Given the description of an element on the screen output the (x, y) to click on. 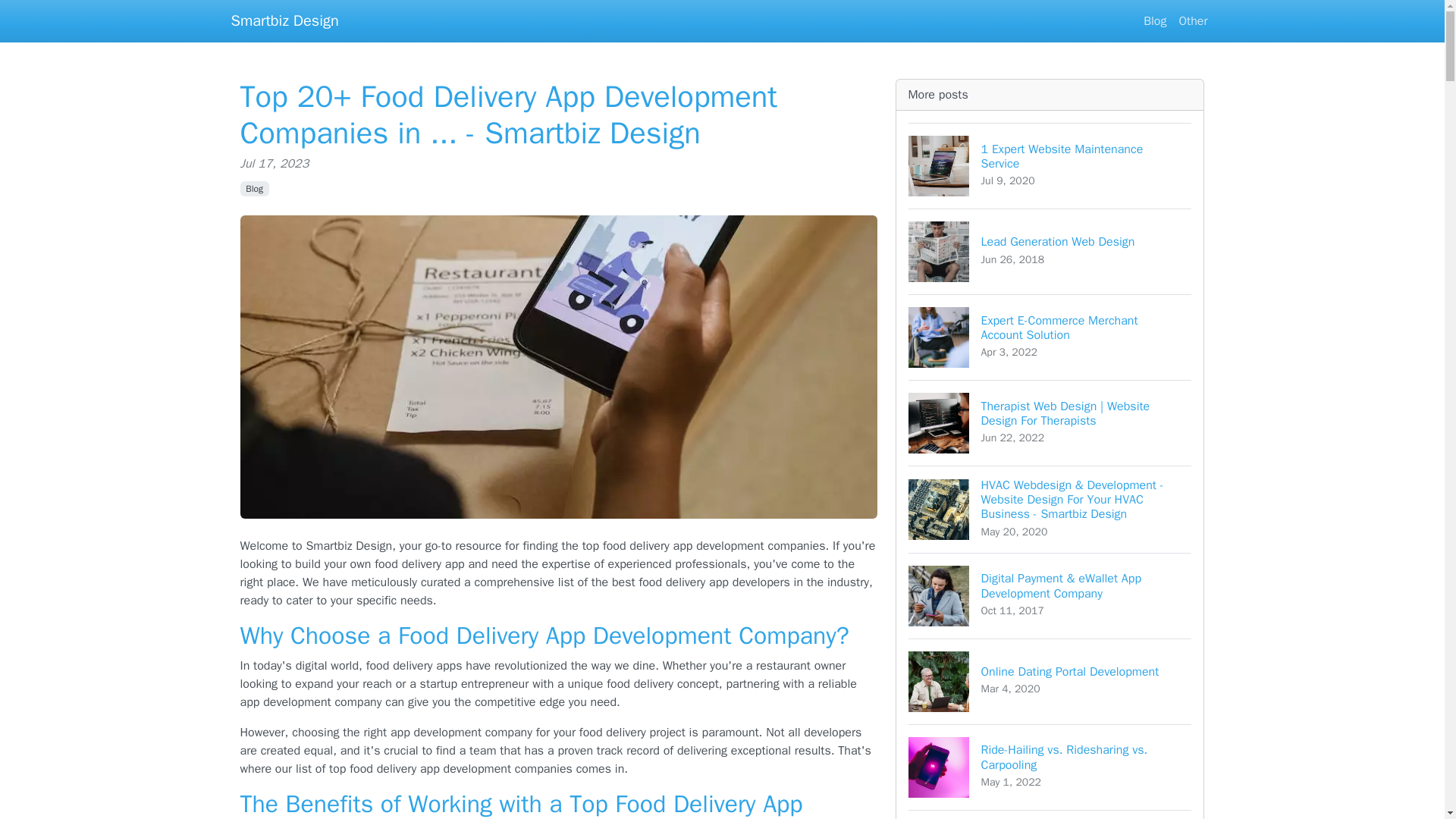
Other (1192, 20)
Blog (1050, 680)
Smartbiz Design (253, 188)
Blog (1050, 251)
